Given the description of an element on the screen output the (x, y) to click on. 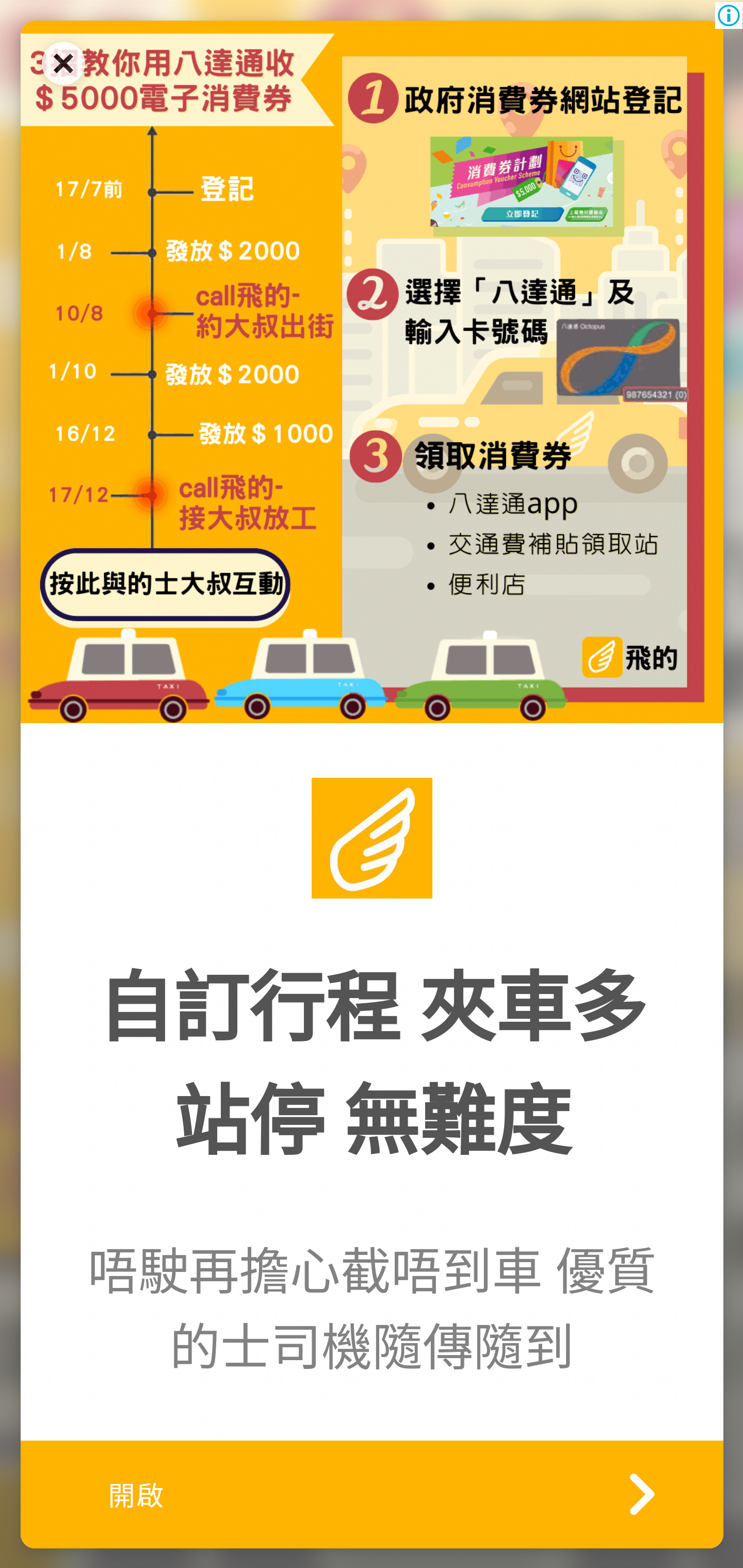
flytaxi.app (371, 371)
flytaxi.app (371, 837)
自訂行程 夾車多 站停 無難度 自訂行程 夾車多 
 站停 無難度 (371, 1066)
唔駛再擔心截唔到車 優質 的士司機隨傳隨到 唔駛再擔心截唔到車 優質 
 的士司機隨傳隨到 (371, 1310)
開啟 (371, 1493)
